Given the description of an element on the screen output the (x, y) to click on. 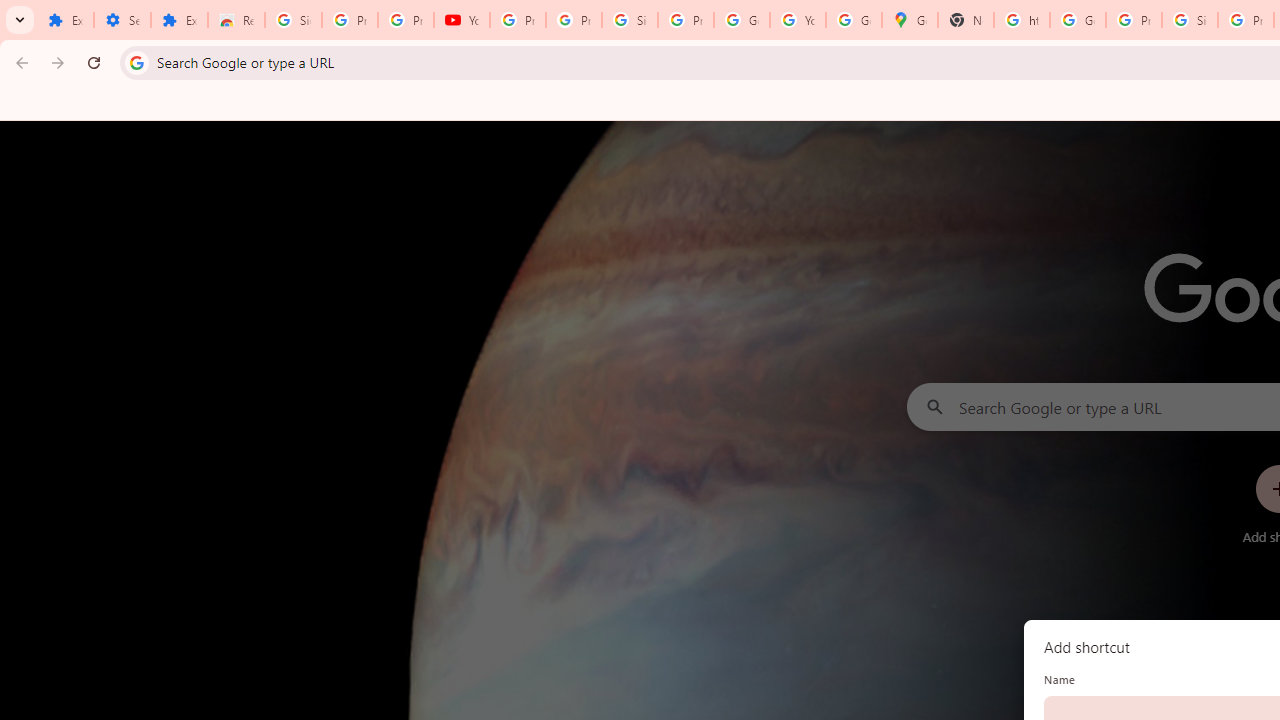
Reviews: Helix Fruit Jump Arcade Game (235, 20)
Sign in - Google Accounts (629, 20)
Settings (122, 20)
Extensions (65, 20)
https://scholar.google.com/ (1021, 20)
Google Maps (909, 20)
Google Account (742, 20)
Sign in - Google Accounts (293, 20)
